Given the description of an element on the screen output the (x, y) to click on. 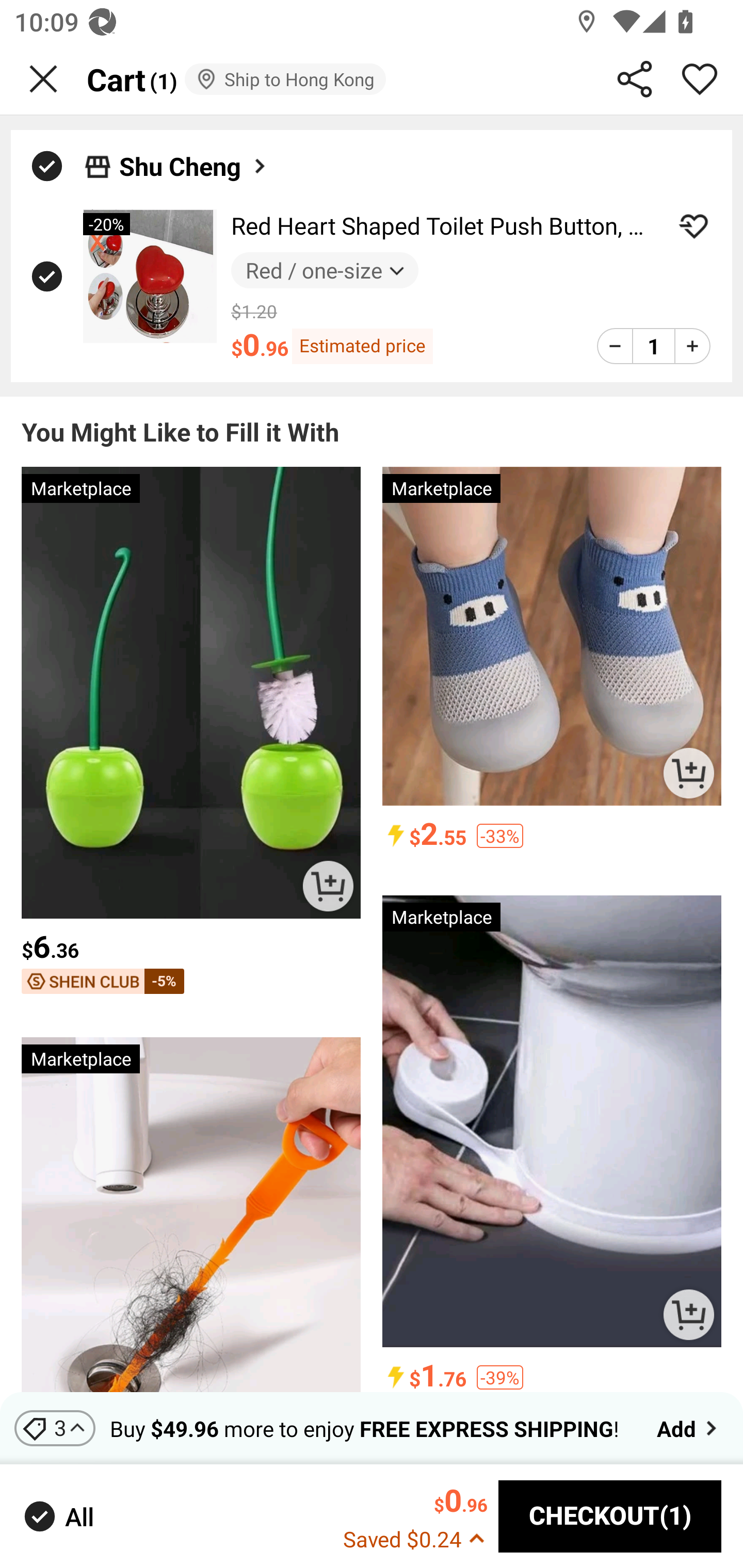
BACK (43, 78)
Wishlist (699, 78)
Share (634, 79)
Ship to Hong Kong (285, 78)
Shu Cheng (193, 165)
ADD TO WISHLIST (693, 226)
Red / one-size (324, 270)
product quantity minus 1 (614, 345)
1 edit product quantity (653, 345)
product quantity add 1 (692, 345)
ADD TO CART (688, 772)
ADD TO CART (327, 885)
Pipe Sink Hair Cleaner Marketplace (190, 1215)
ADD TO CART (688, 1314)
3 (54, 1428)
Add (688, 1428)
CHECKOUT(1) (609, 1516)
All (57, 1517)
